Given the description of an element on the screen output the (x, y) to click on. 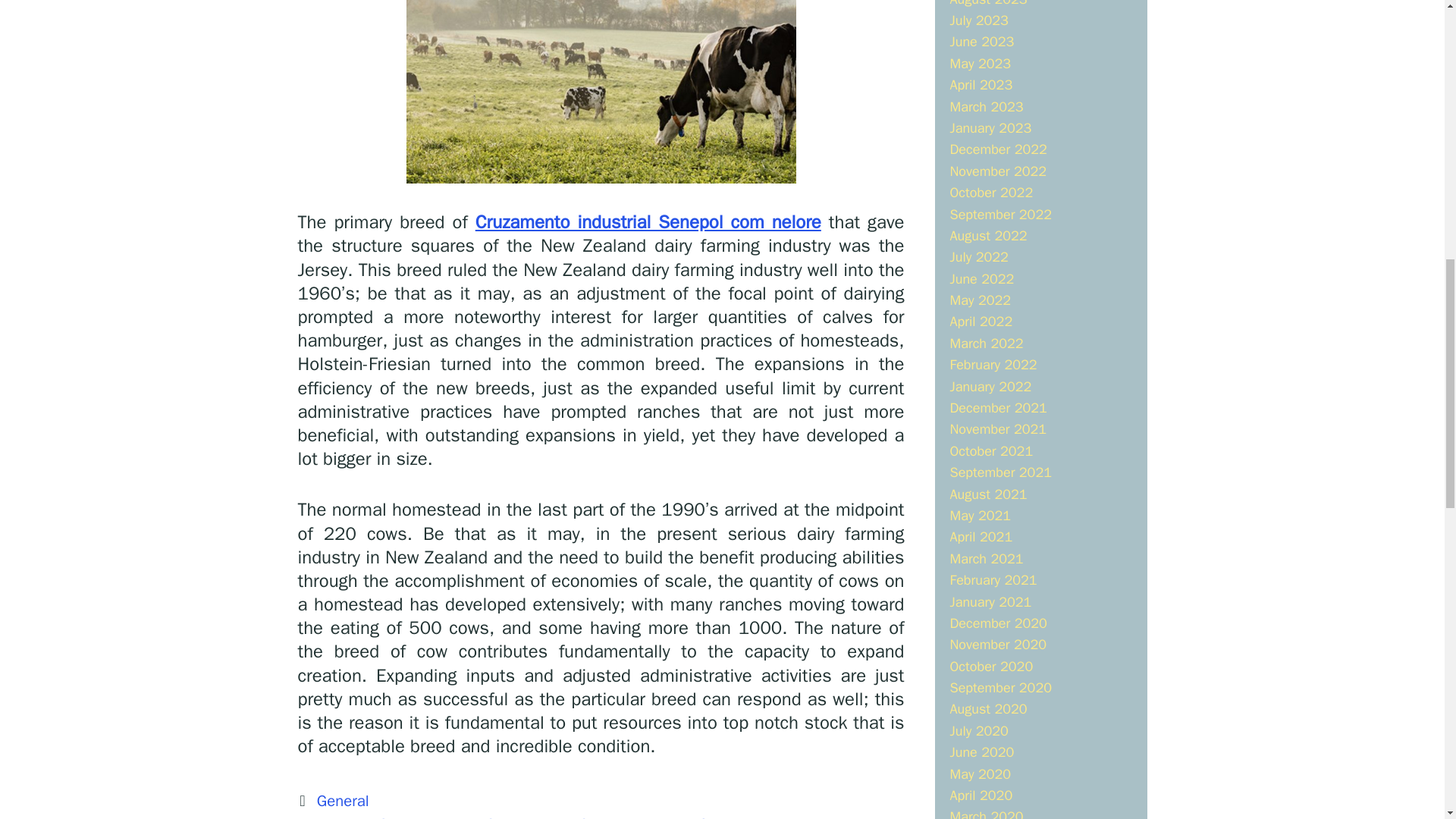
June 2023 (981, 41)
October 2022 (990, 192)
August 2022 (987, 235)
September 2022 (1000, 214)
November 2022 (997, 170)
January 2023 (989, 127)
May 2023 (979, 63)
July 2023 (978, 20)
December 2022 (997, 149)
